Given the description of an element on the screen output the (x, y) to click on. 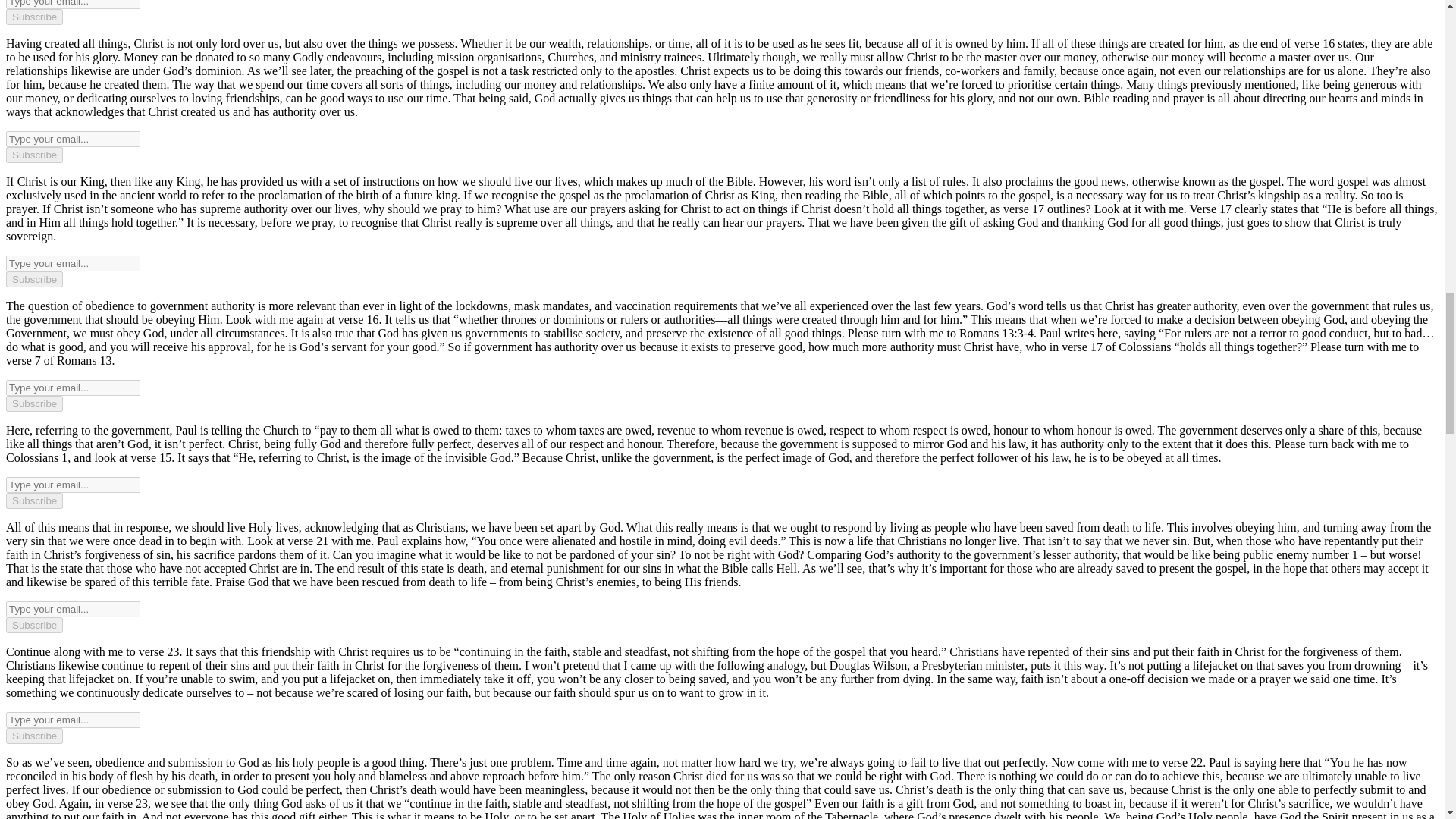
Subscribe (33, 403)
Subscribe (33, 154)
Subscribe (33, 625)
Subscribe (33, 279)
Subscribe (33, 735)
Subscribe (33, 17)
Subscribe (33, 500)
